Given the description of an element on the screen output the (x, y) to click on. 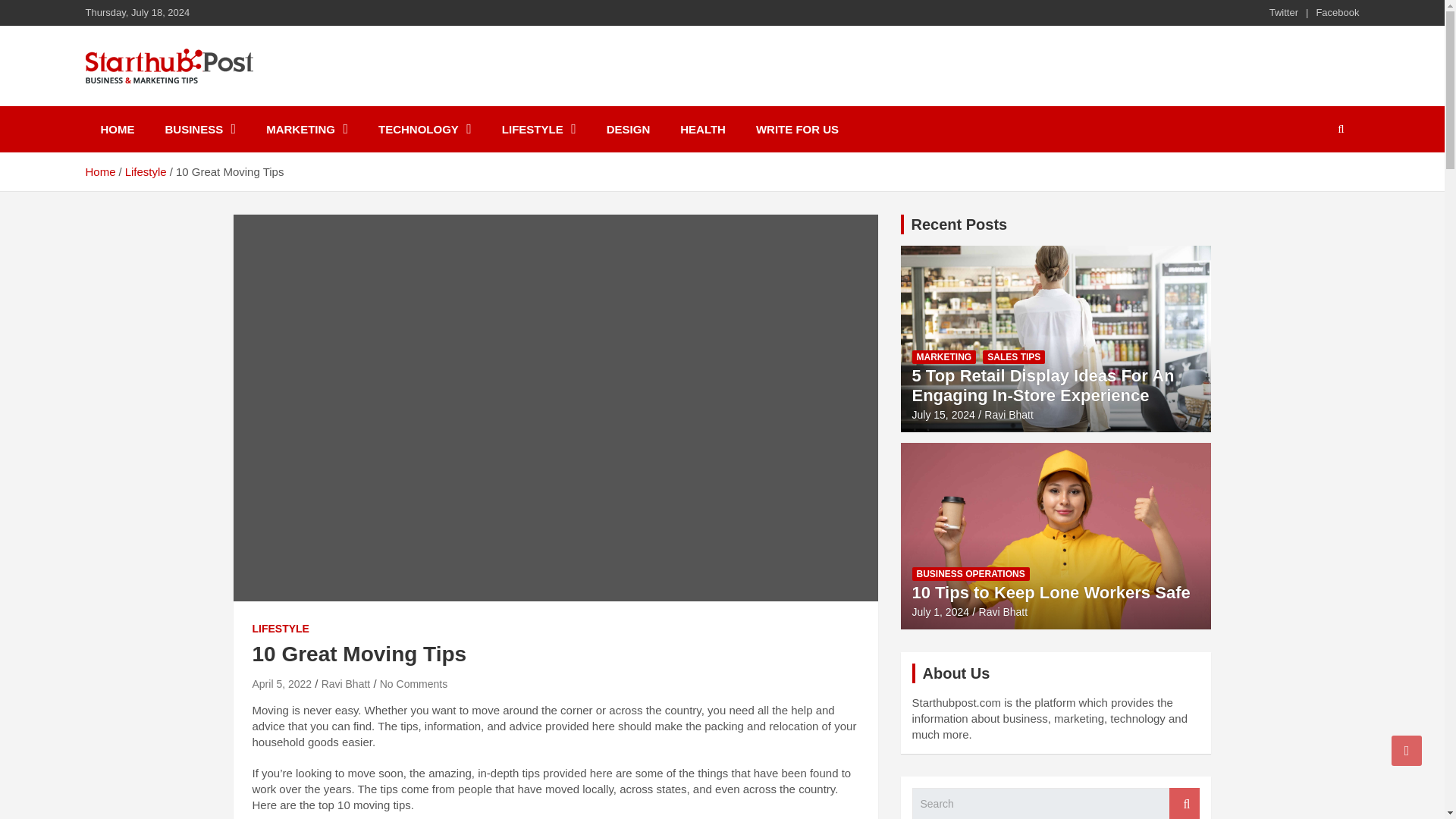
Lifestyle (146, 171)
TECHNOLOGY (424, 129)
HEALTH (703, 129)
Go to Top (1406, 750)
10 Tips to Keep Lone Workers Safe (940, 612)
BUSINESS (200, 129)
Twitter (1283, 12)
HOME (116, 129)
DESIGN (628, 129)
WRITE FOR US (797, 129)
Ravi Bhatt (346, 684)
Facebook (1337, 12)
Starthub Post (183, 102)
MARKETING (306, 129)
